Given the description of an element on the screen output the (x, y) to click on. 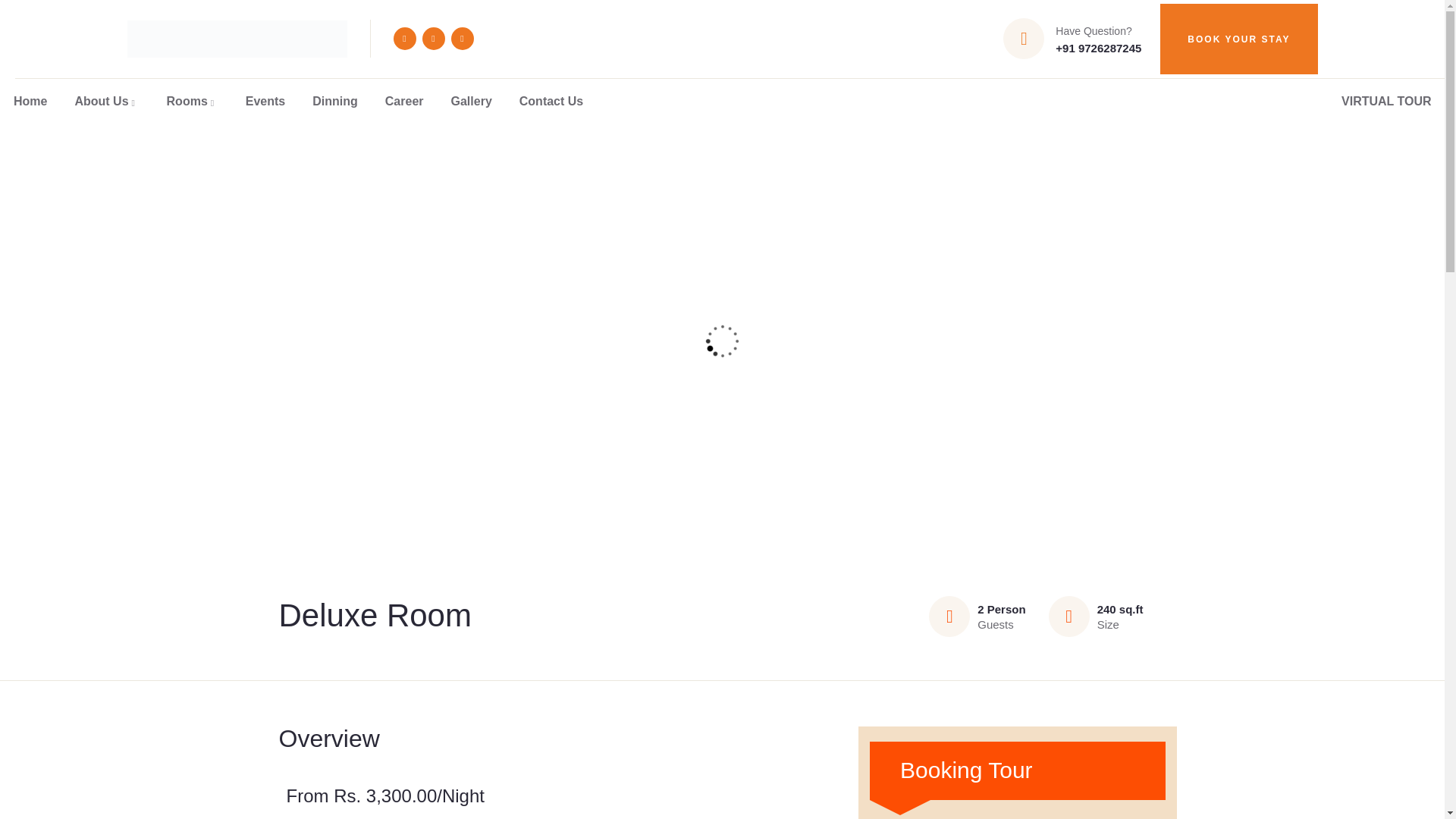
Home (237, 38)
About Us (106, 101)
Contact Us (550, 101)
Career (404, 101)
VIRTUAL TOUR (1385, 101)
Dinning (334, 101)
Rooms (191, 101)
Gallery (471, 101)
Events (264, 101)
BOOK YOUR STAY (1239, 39)
Home (30, 101)
